Given the description of an element on the screen output the (x, y) to click on. 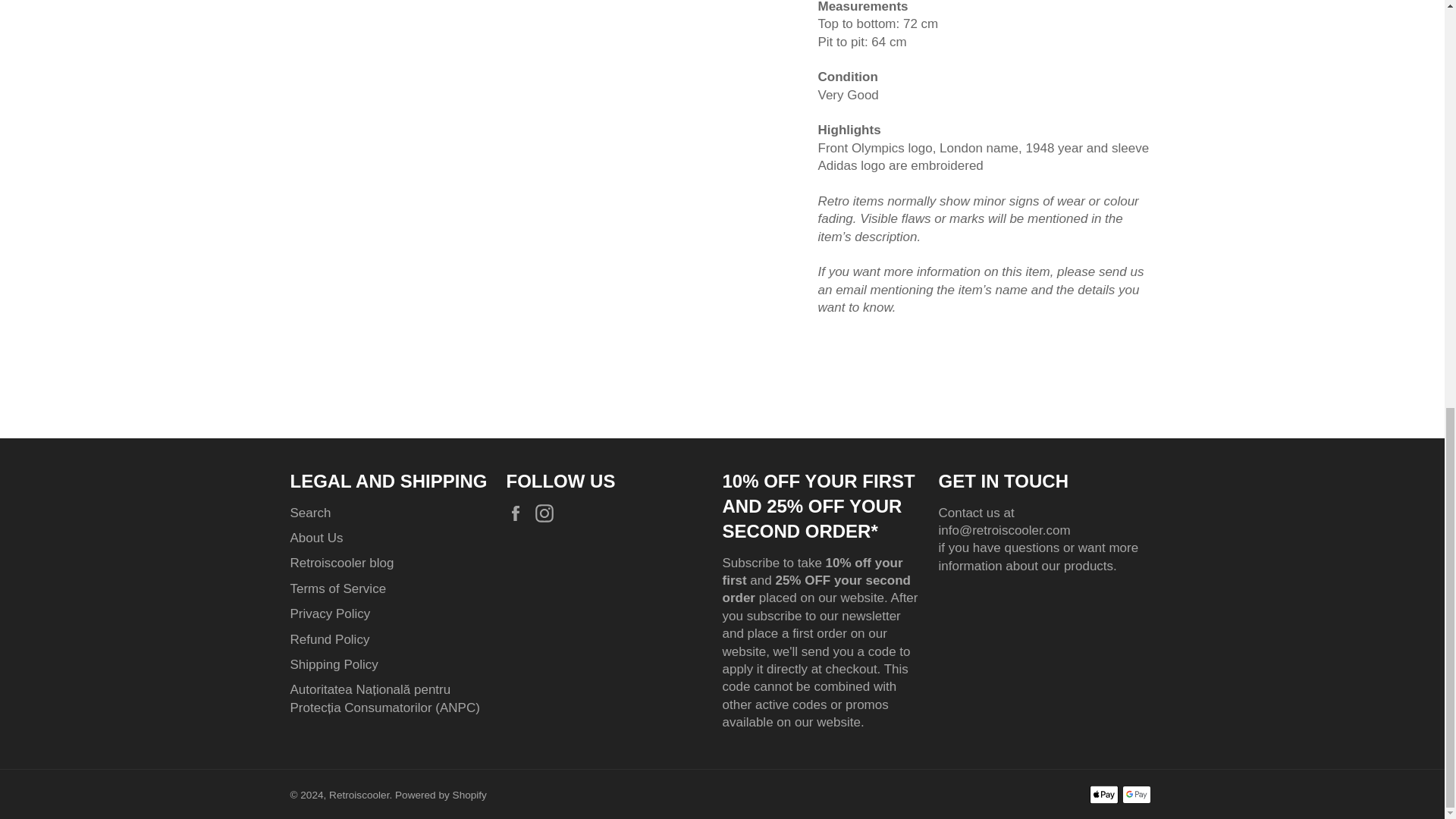
Retroiscooler on Facebook (519, 513)
Retroiscooler on Instagram (547, 513)
